Given the description of an element on the screen output the (x, y) to click on. 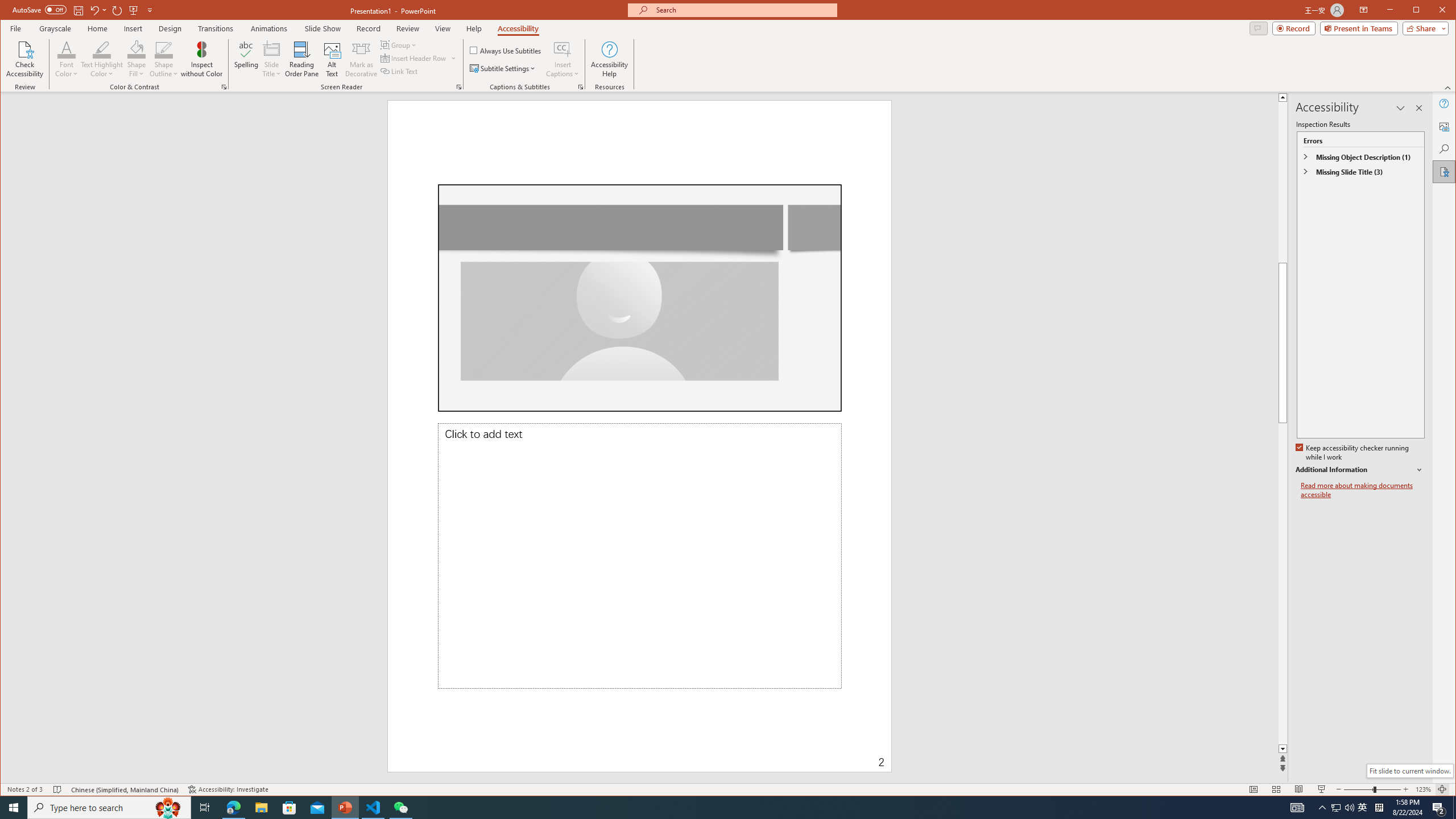
Fit slide to current window. (1410, 771)
Inspect without Color (201, 59)
